Given the description of an element on the screen output the (x, y) to click on. 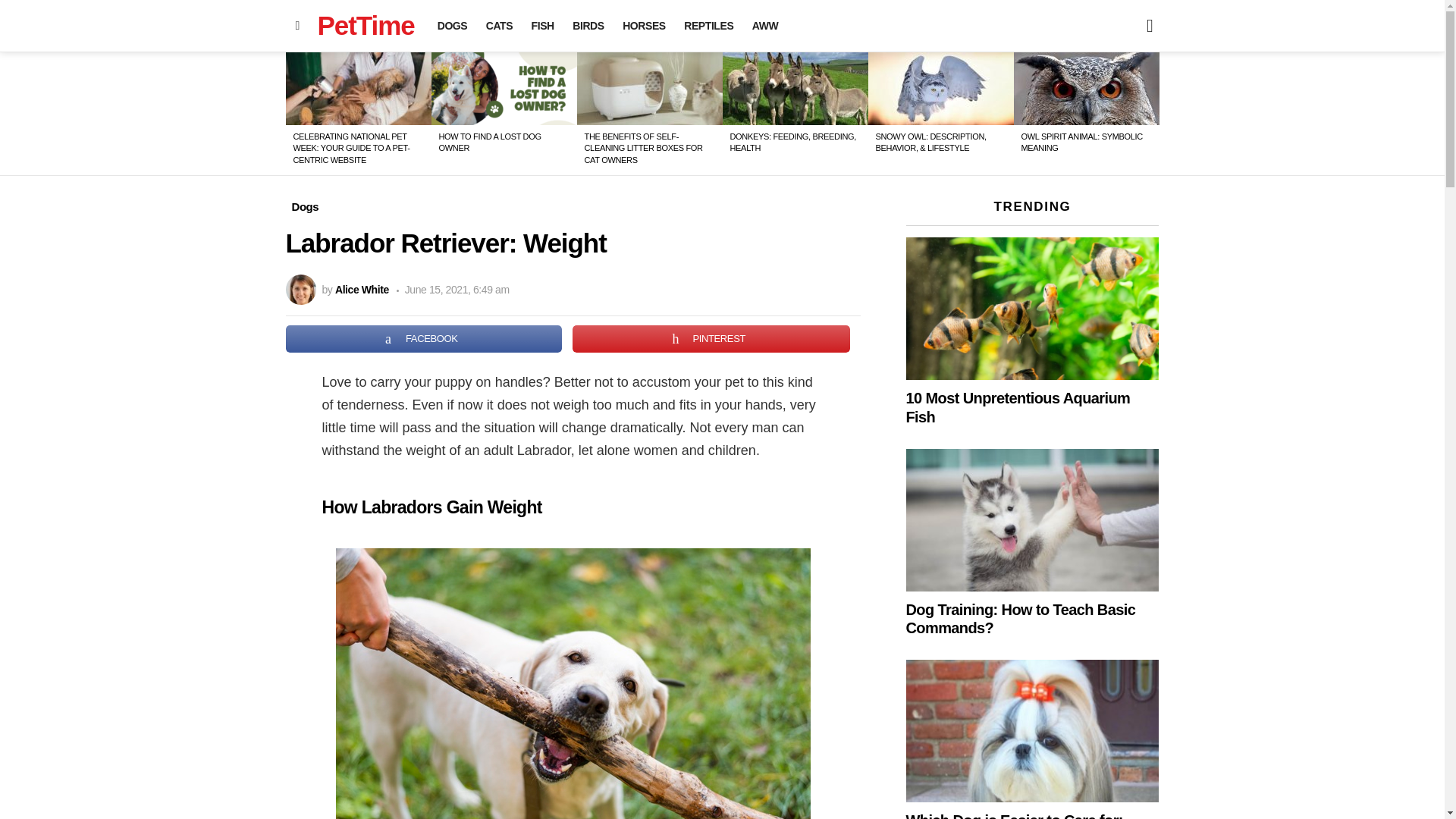
Dogs (304, 207)
Alice White (361, 289)
How to Find a Lost Dog Owner (503, 88)
FACEBOOK (422, 338)
CATS (499, 25)
Share on Facebook (422, 338)
THE BENEFITS OF SELF-CLEANING LITTER BOXES FOR CAT OWNERS (642, 147)
HOW TO FIND A LOST DOG OWNER (489, 141)
Owl Spirit Animal: Symbolic Meaning (1085, 88)
PetTime (365, 25)
